Given the description of an element on the screen output the (x, y) to click on. 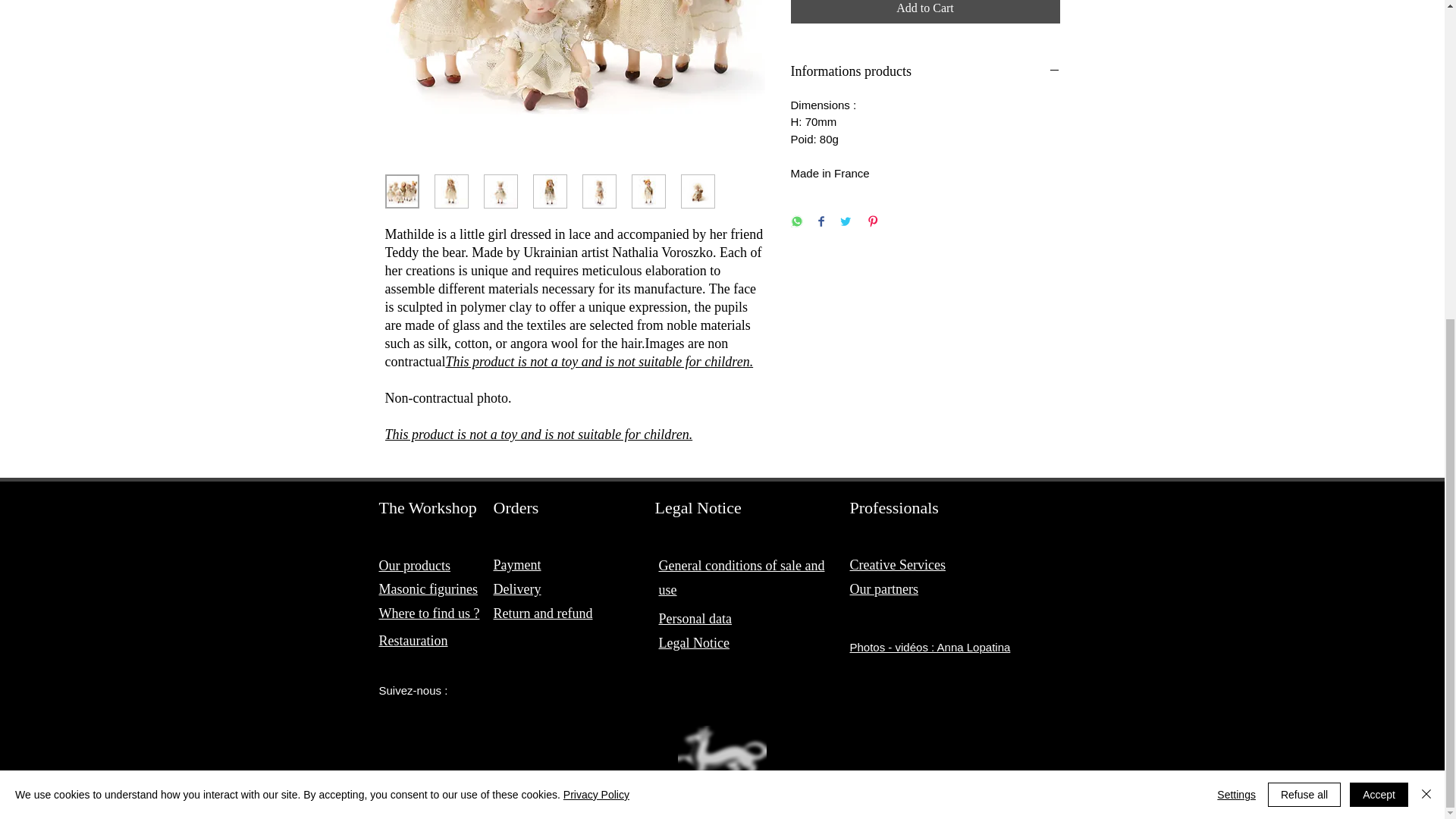
Where to find us ? (429, 613)
Masonic figurines (427, 589)
Screenshot 2022-10-26 at 17-34-50 carte  (722, 762)
Payment (516, 564)
Return and refund (542, 613)
Delivery (516, 589)
Informations products (924, 71)
Our products (413, 565)
Add to Cart (924, 11)
